Given the description of an element on the screen output the (x, y) to click on. 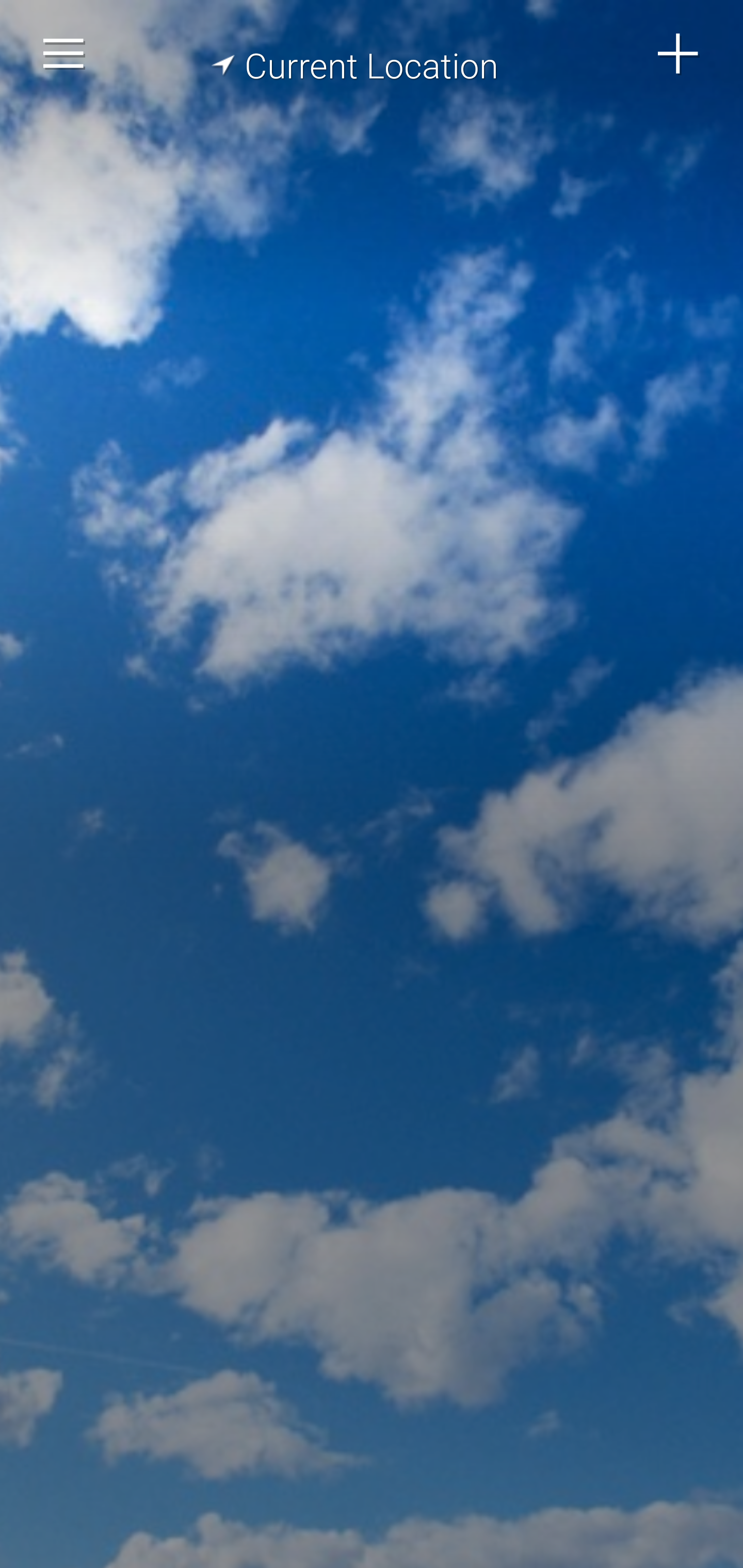
Sidebar (64, 54)
Add City (678, 53)
